Given the description of an element on the screen output the (x, y) to click on. 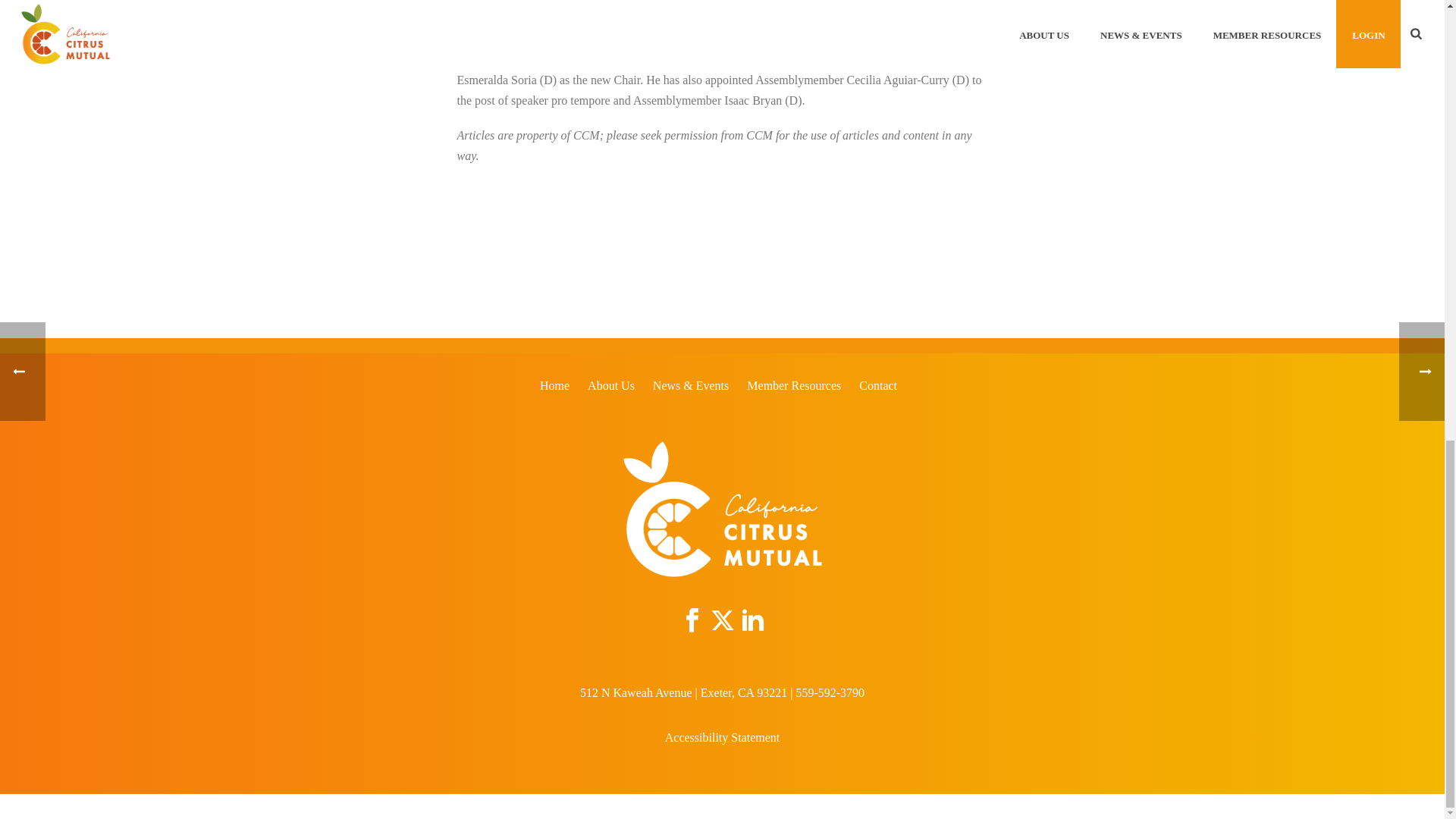
logo-white (721, 509)
